Given the description of an element on the screen output the (x, y) to click on. 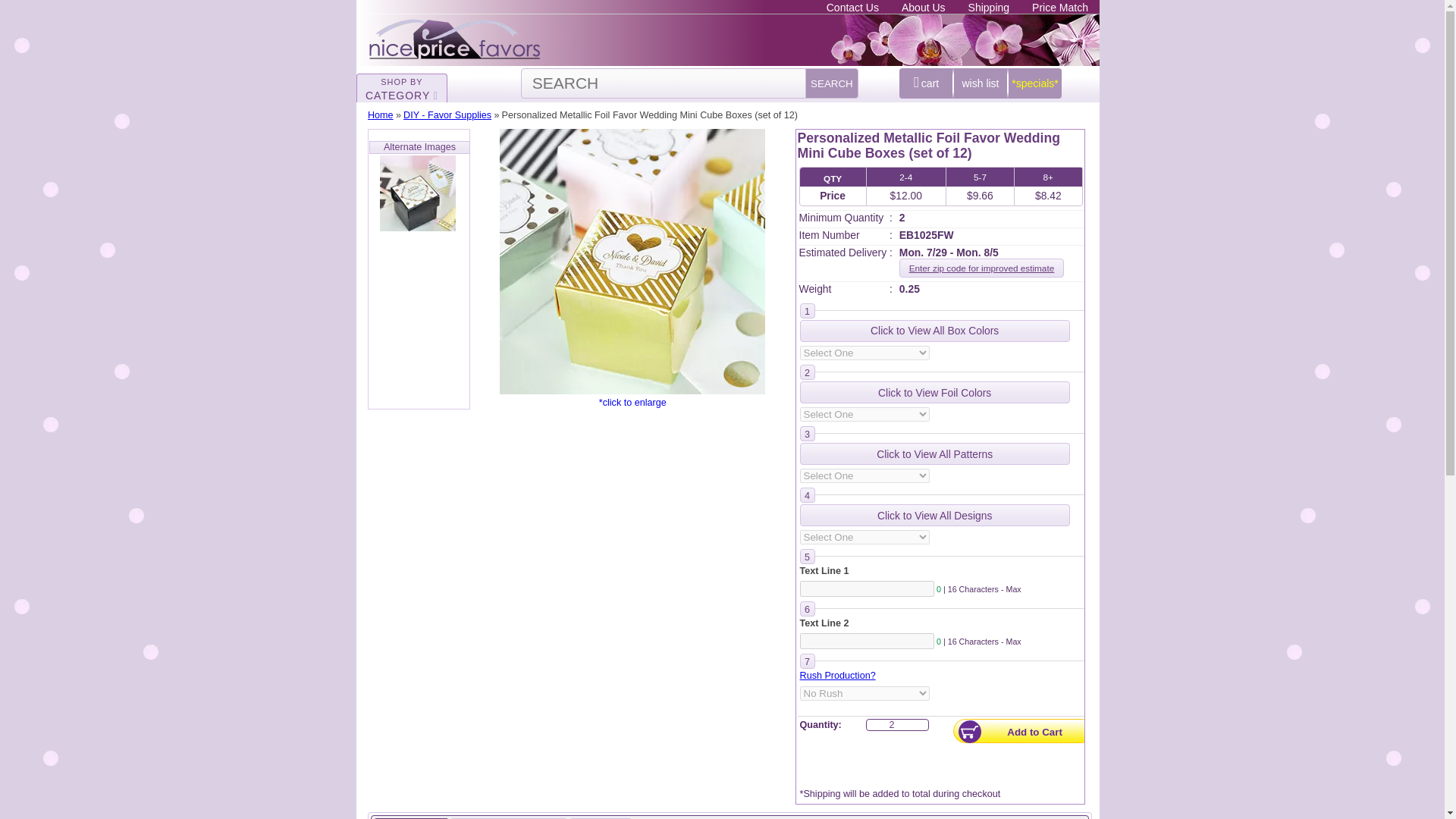
Rush Production (837, 675)
Nice Price Favors (454, 38)
Shipping (988, 7)
About Us (923, 7)
2 (898, 725)
Price Match (1059, 7)
Click to Enlarge (632, 260)
Choose Pattern (934, 454)
Contact Us (852, 7)
cart (925, 82)
Choose Label Design (934, 515)
wish list (980, 82)
Search (832, 82)
Search (832, 82)
Choose Box Color (934, 331)
